Given the description of an element on the screen output the (x, y) to click on. 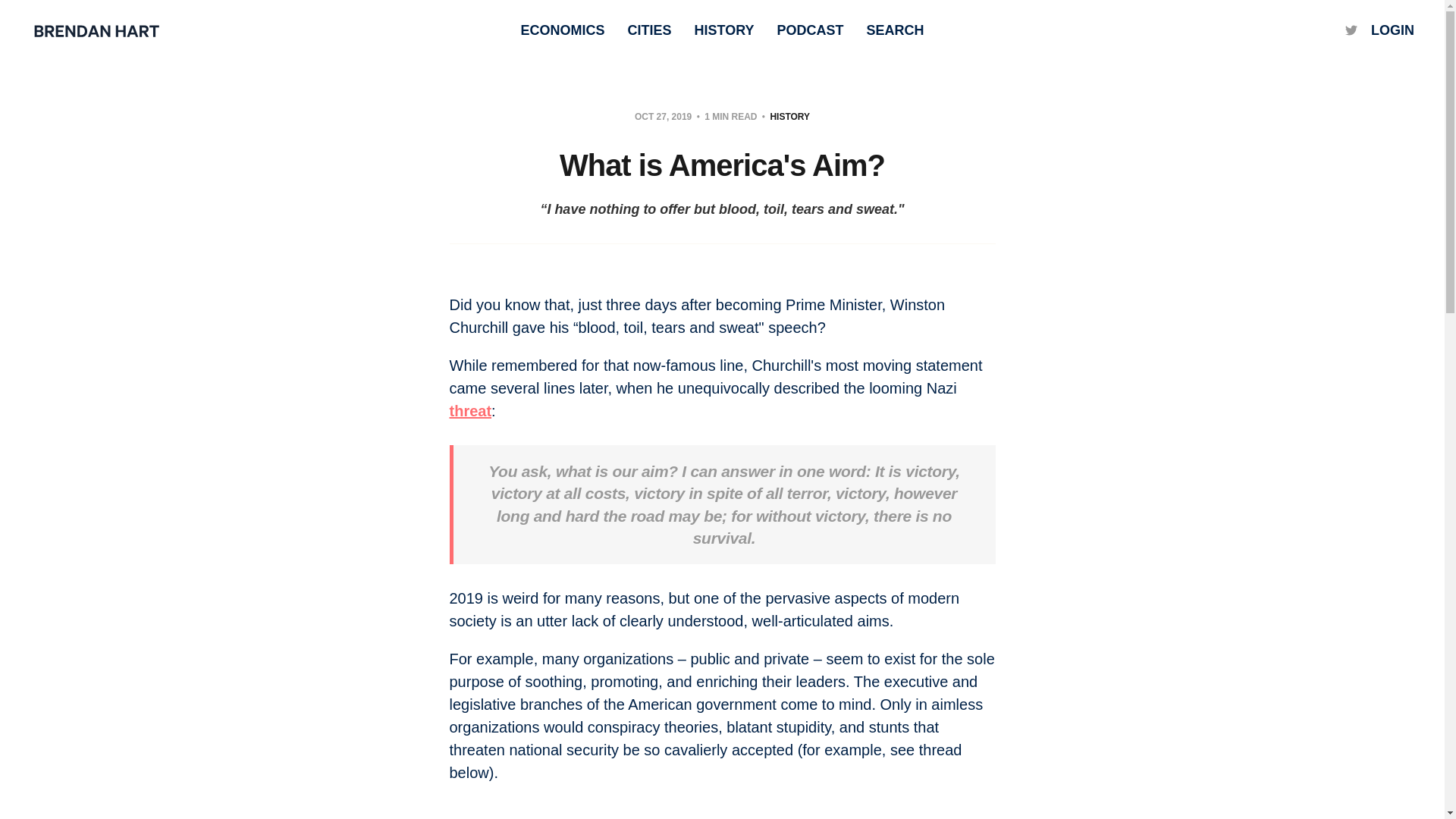
HISTORY (789, 116)
ECONOMICS (561, 30)
PODCAST (809, 30)
SEARCH (895, 30)
HISTORY (724, 30)
LOGIN (1392, 30)
CITIES (649, 30)
threat (470, 410)
